Given the description of an element on the screen output the (x, y) to click on. 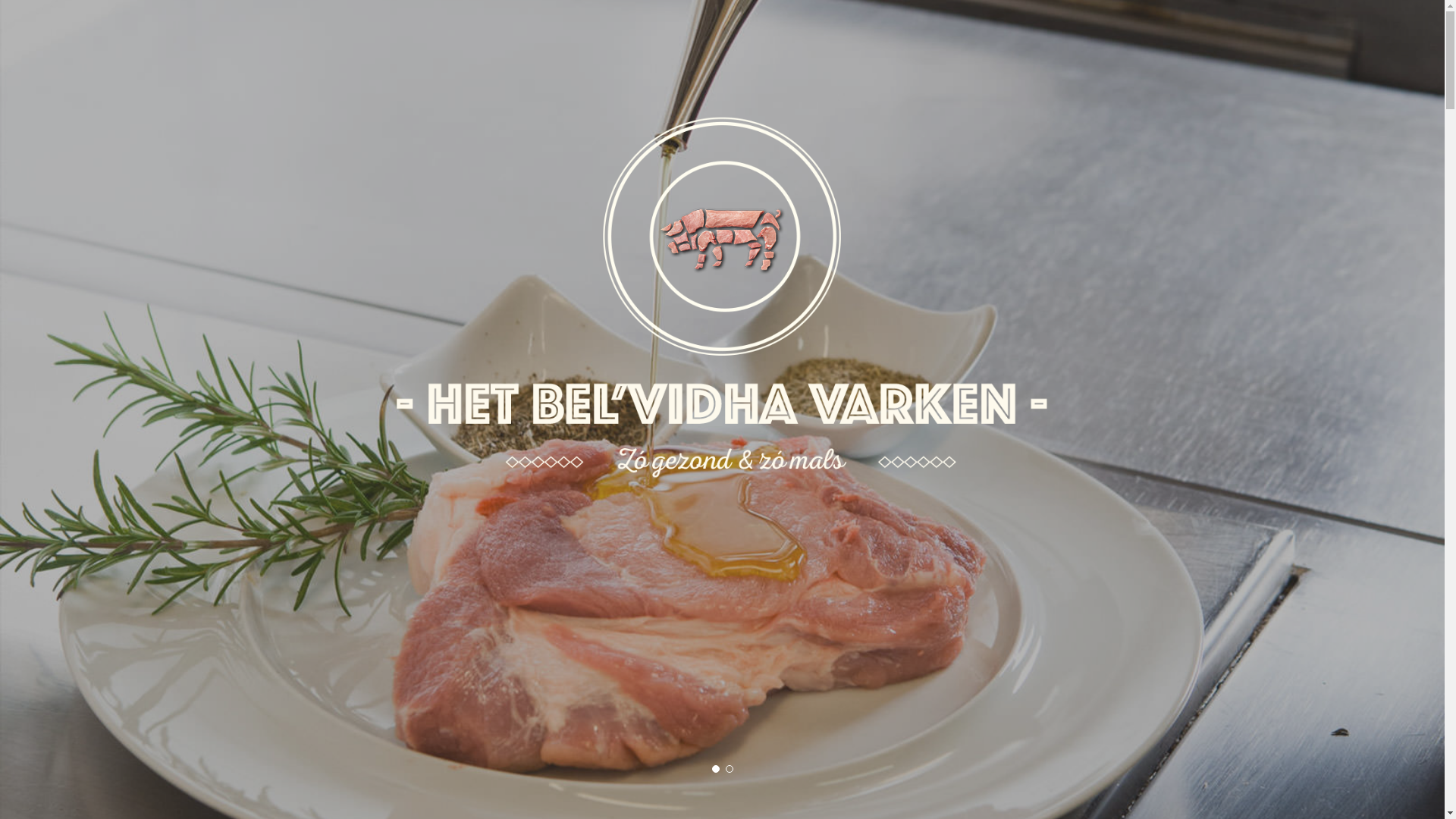
2 Element type: text (728, 768)
1 Element type: text (714, 768)
